Given the description of an element on the screen output the (x, y) to click on. 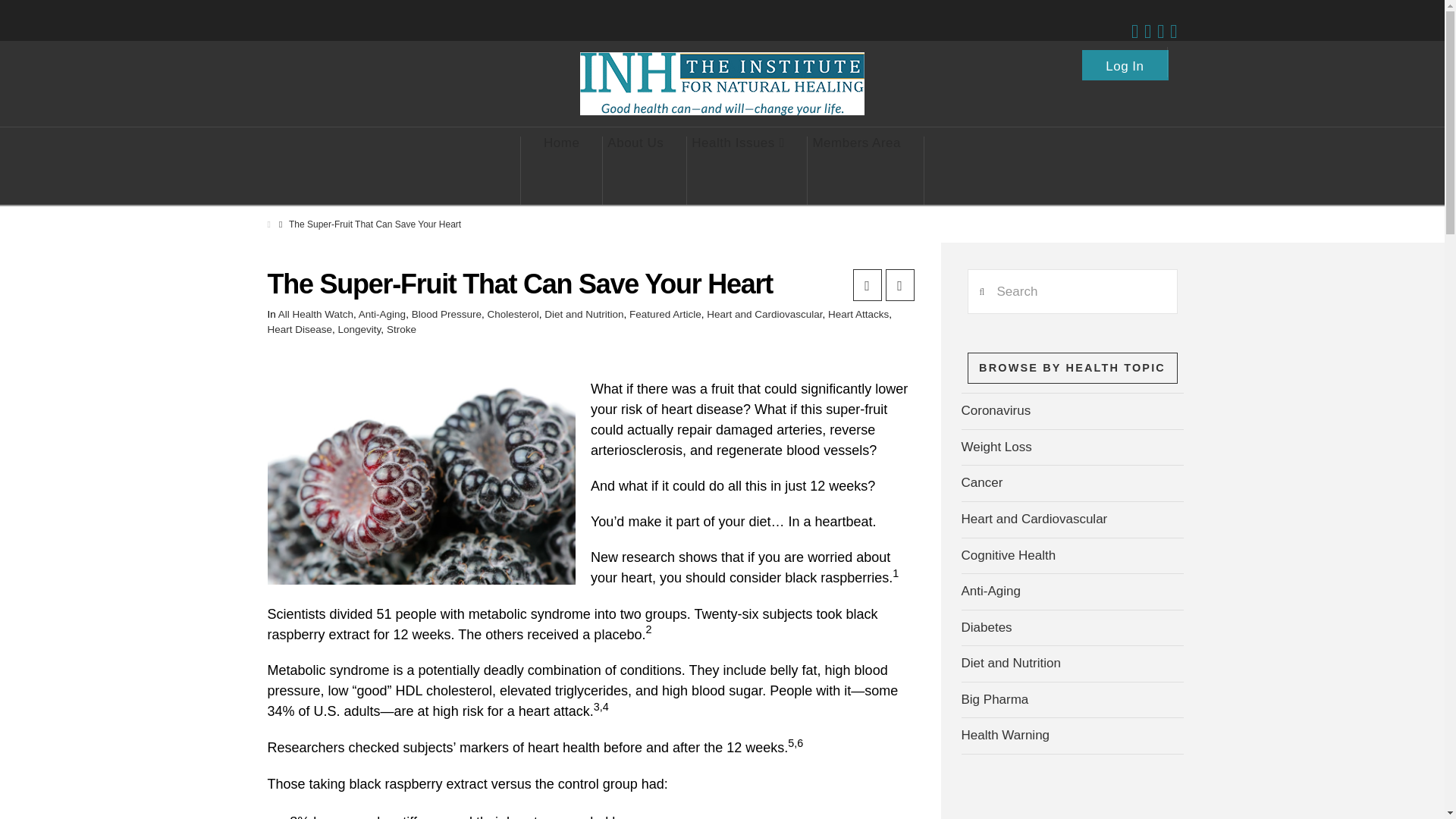
Log In (1125, 61)
Health Issues (738, 170)
Members Area (856, 170)
About Us (636, 170)
Home (560, 170)
Natural Health Breakthroughs from Across the Globe (721, 83)
